Given the description of an element on the screen output the (x, y) to click on. 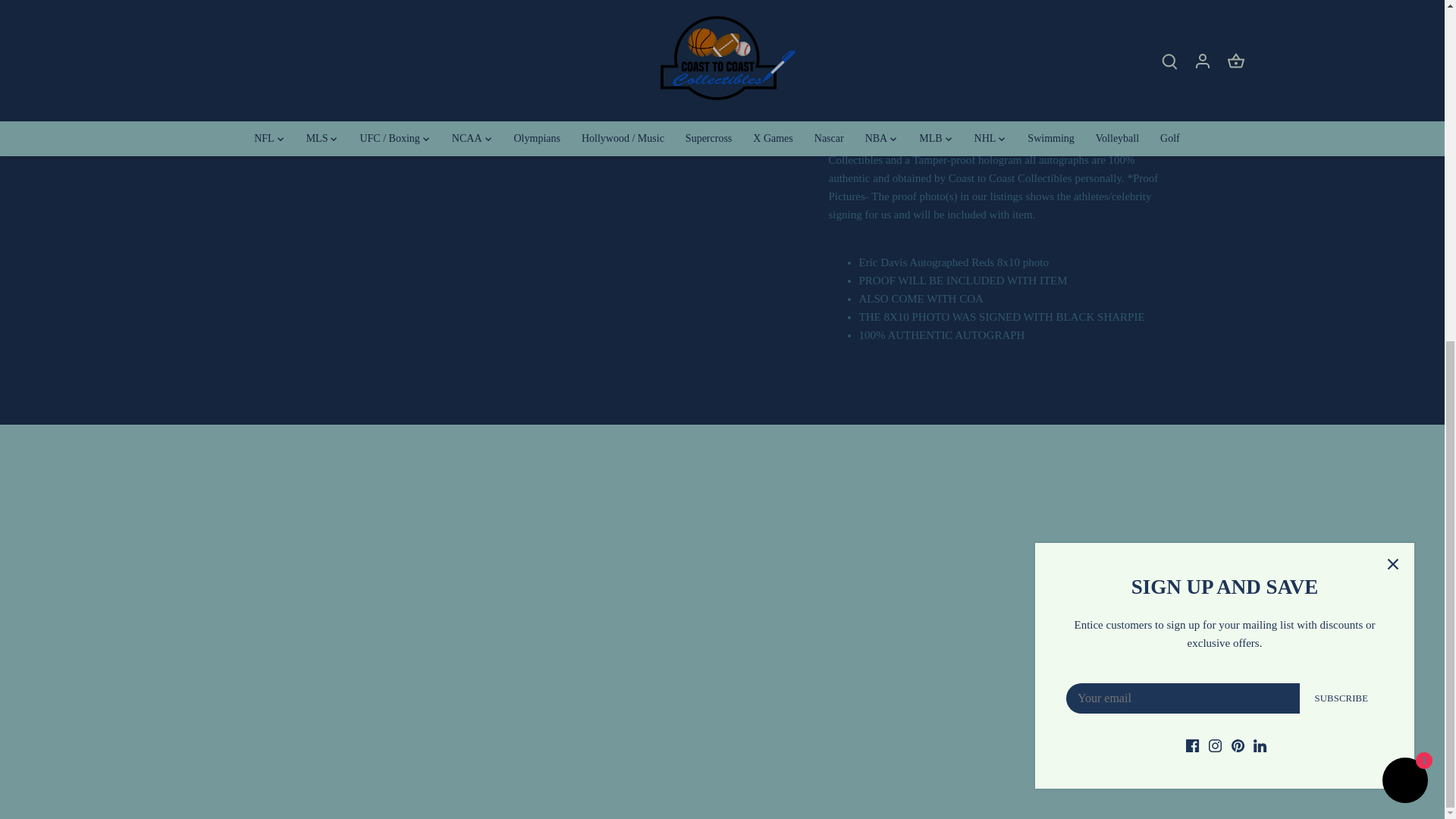
Shopify online store chat (1404, 203)
